Given the description of an element on the screen output the (x, y) to click on. 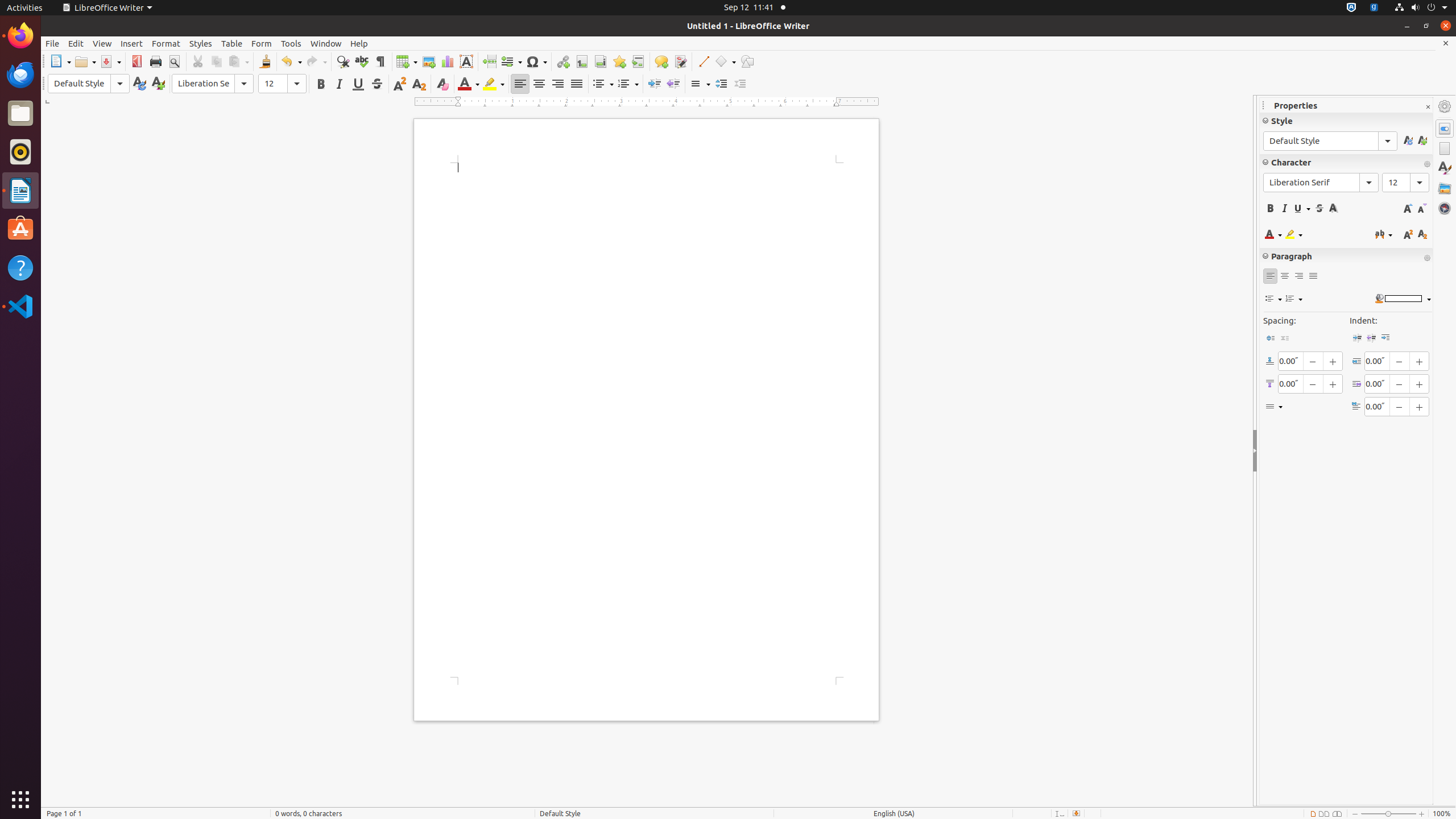
Page Element type: radio-button (1444, 148)
Help Element type: push-button (20, 267)
Underline Element type: push-button (357, 83)
Thunderbird Mail Element type: push-button (20, 74)
Paste Element type: push-button (237, 61)
